Given the description of an element on the screen output the (x, y) to click on. 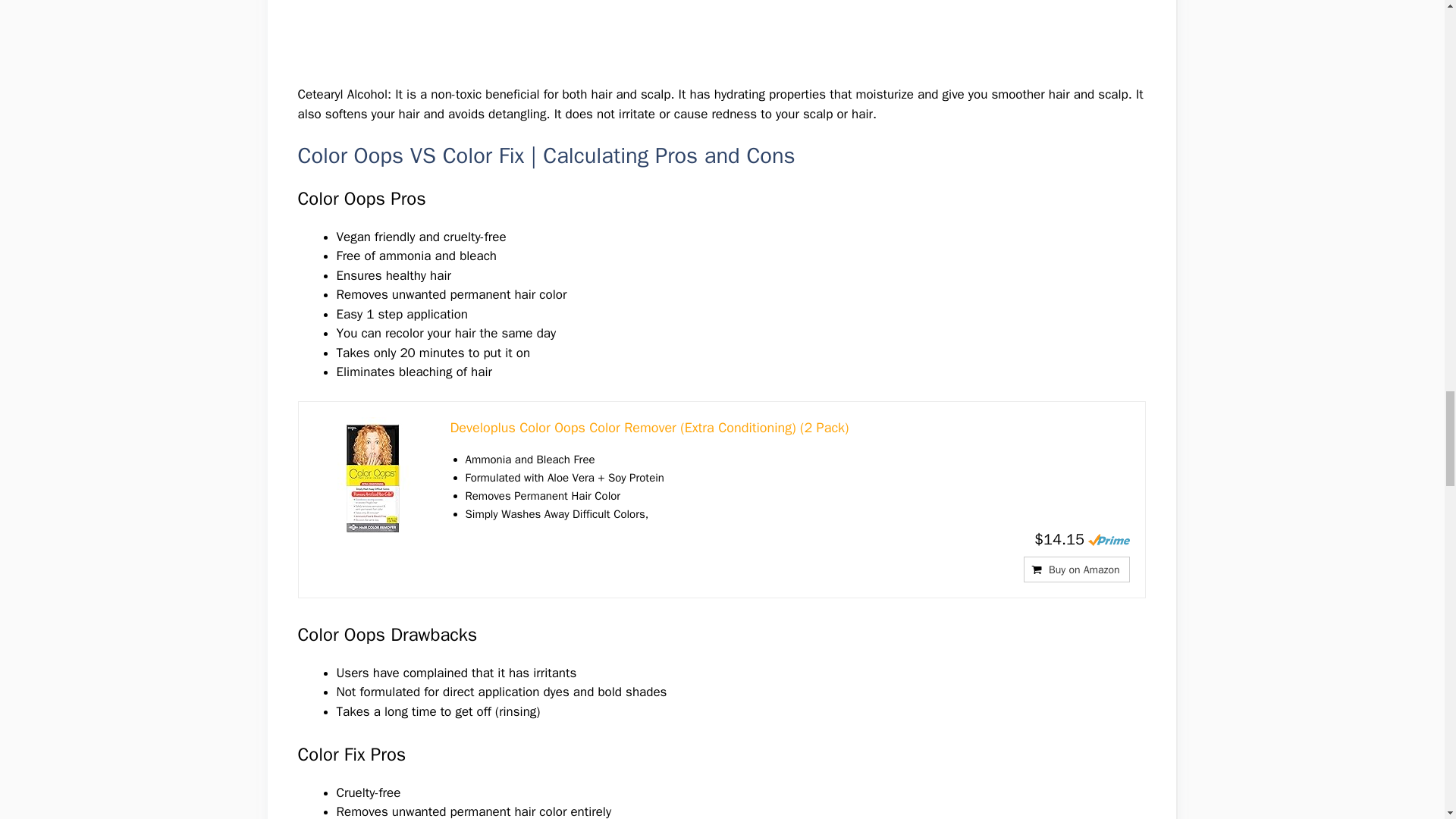
Buy on Amazon (1076, 569)
